Given the description of an element on the screen output the (x, y) to click on. 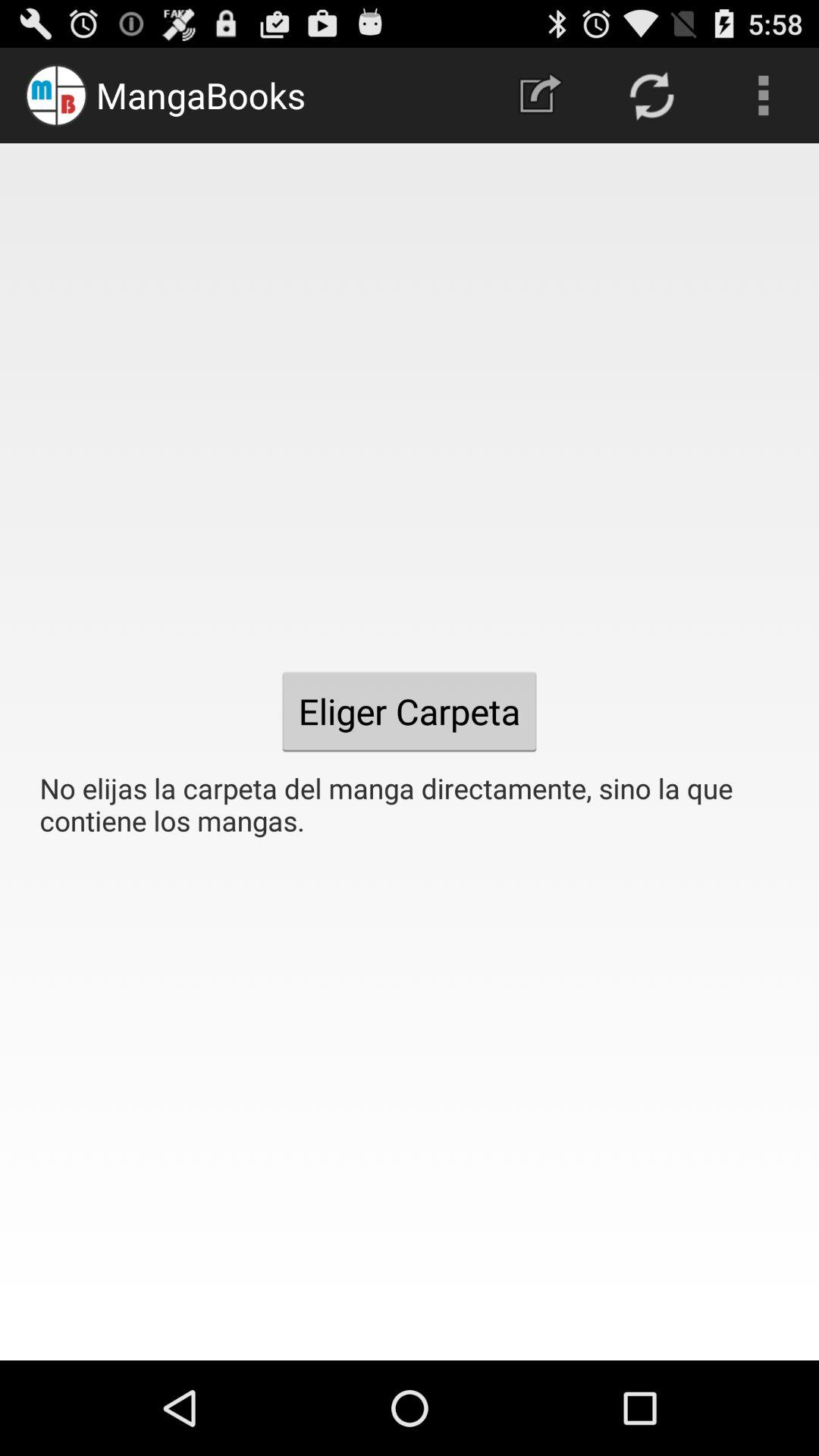
turn off the icon above eliger carpeta button (540, 95)
